Given the description of an element on the screen output the (x, y) to click on. 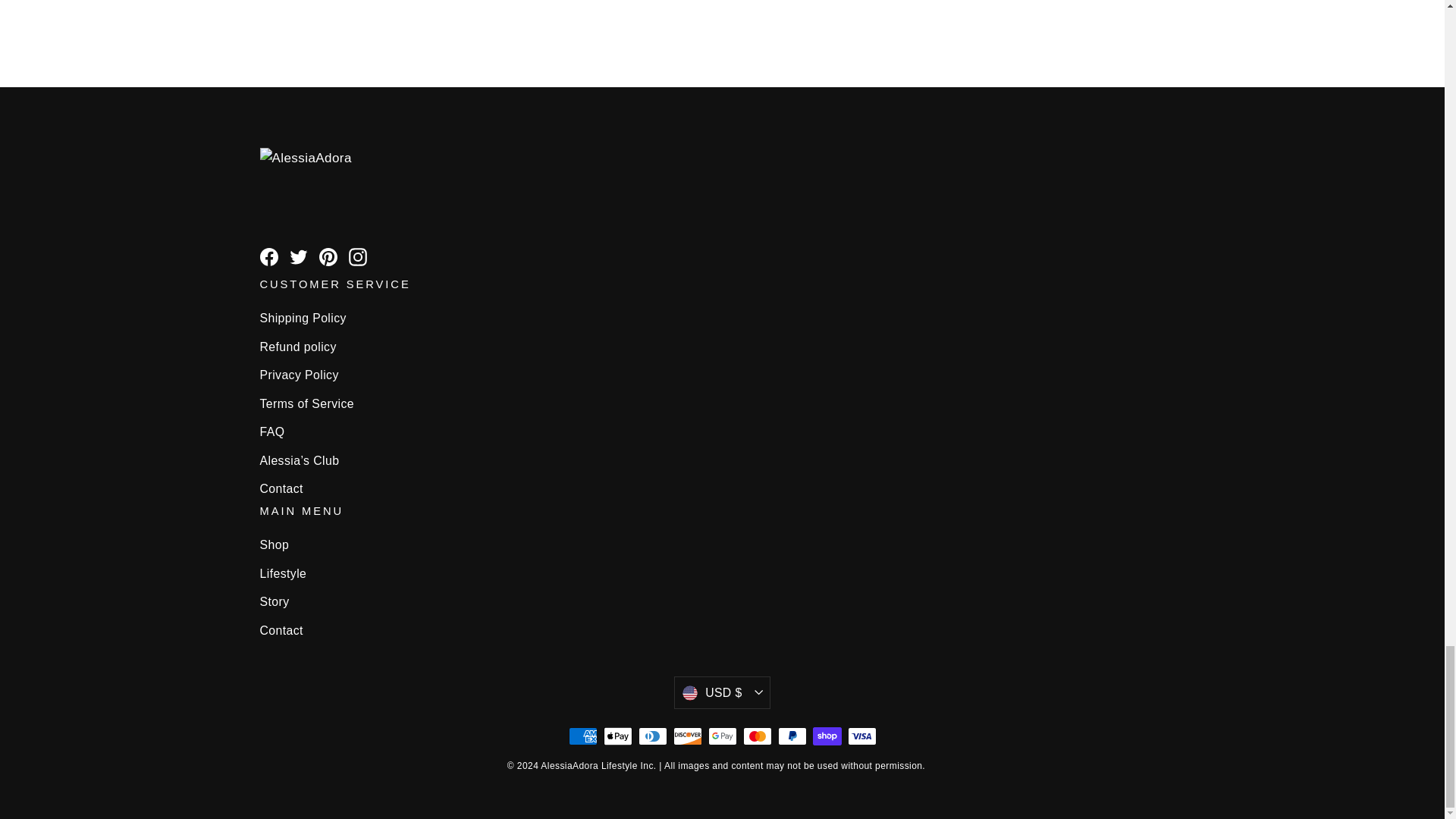
Apple Pay (617, 736)
Discover (686, 736)
PayPal (791, 736)
AlessiaAdora on Twitter (298, 256)
AlessiaAdora on Instagram (357, 256)
Mastercard (756, 736)
AlessiaAdora on Pinterest (327, 256)
American Express (582, 736)
Diners Club (652, 736)
Google Pay (721, 736)
